Given the description of an element on the screen output the (x, y) to click on. 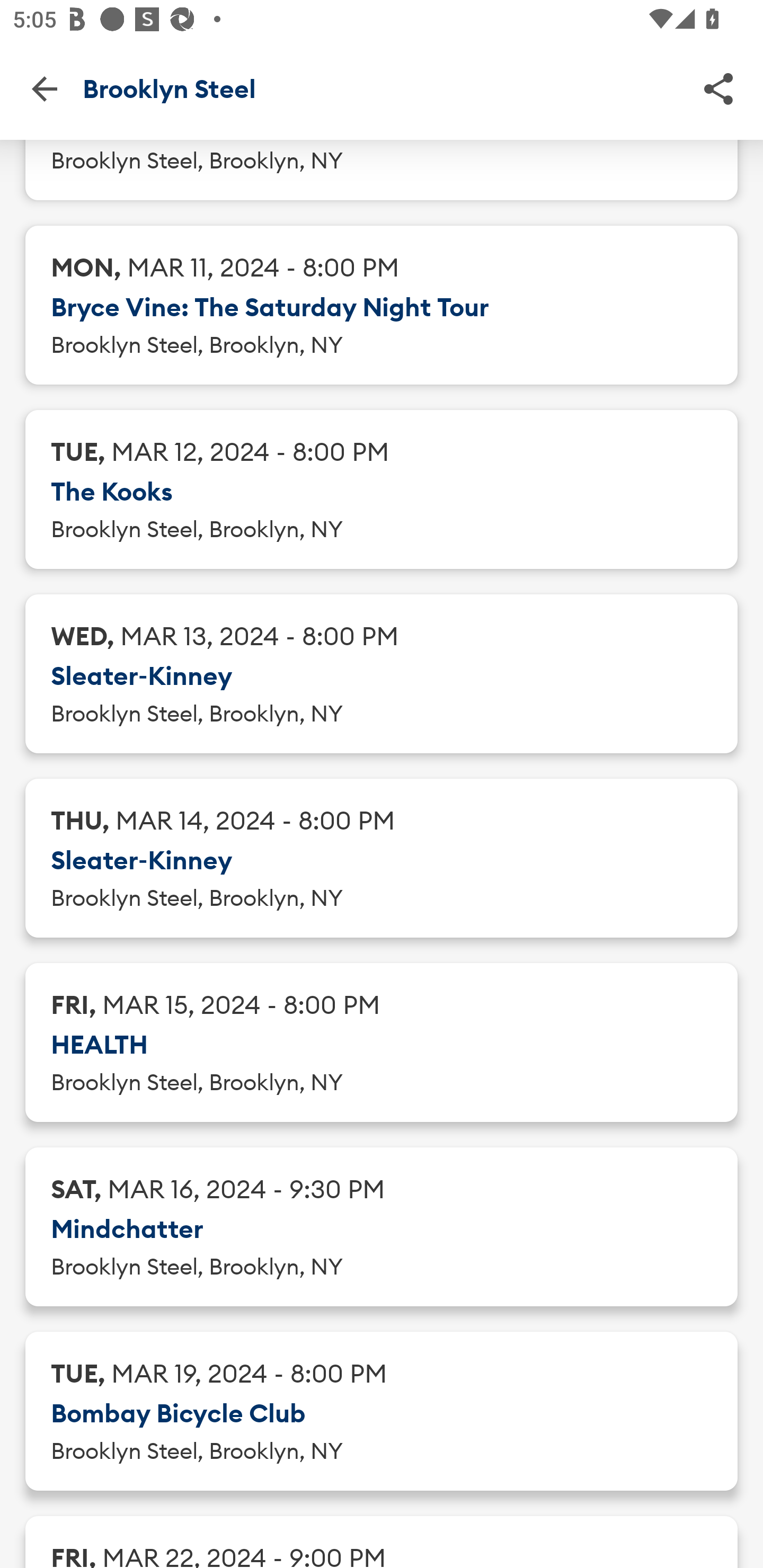
BackButton (44, 88)
Share (718, 88)
